Given the description of an element on the screen output the (x, y) to click on. 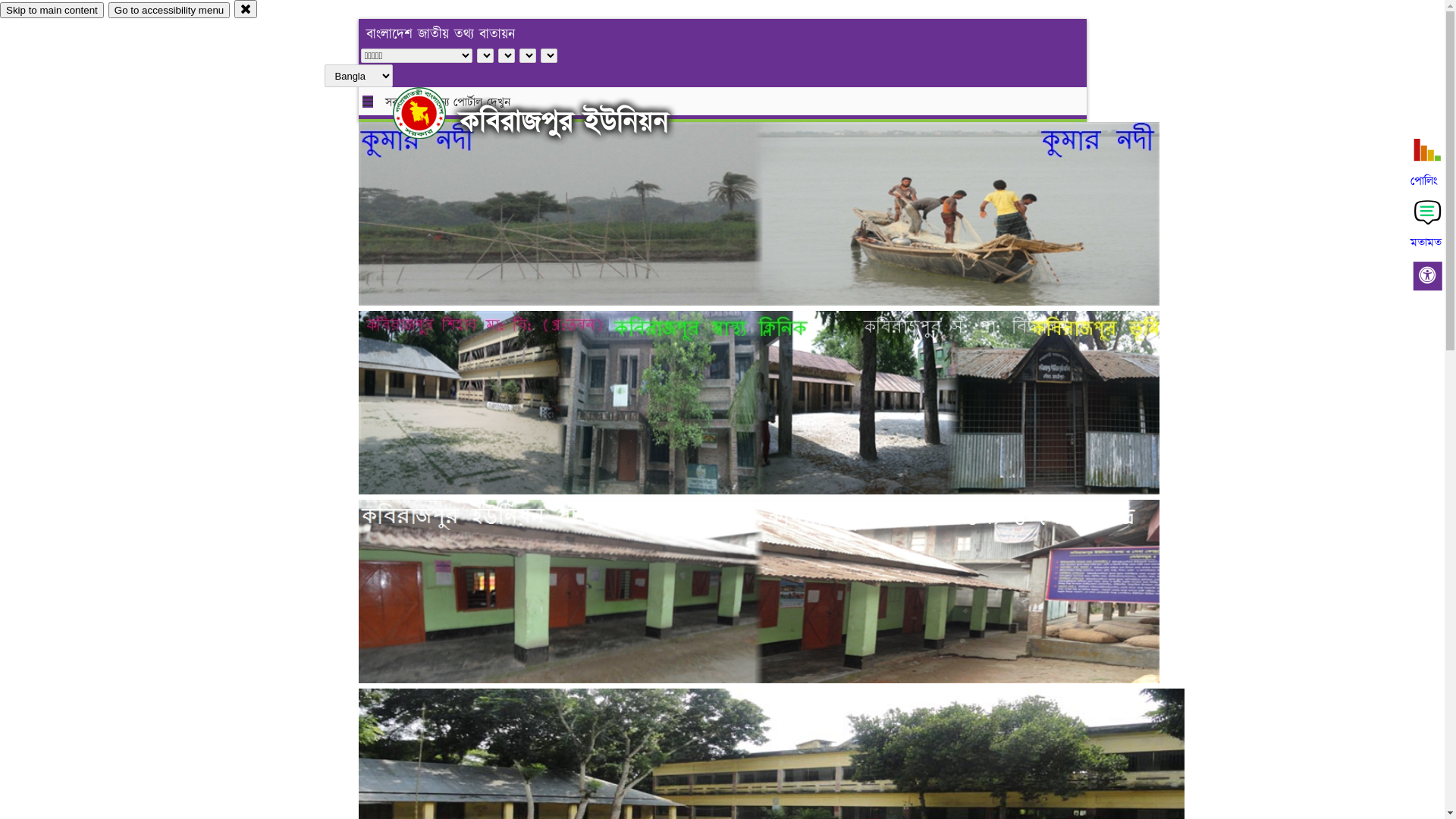

                
             Element type: hover (431, 112)
close Element type: hover (245, 9)
Go to accessibility menu Element type: text (168, 10)
Skip to main content Element type: text (51, 10)
